Given the description of an element on the screen output the (x, y) to click on. 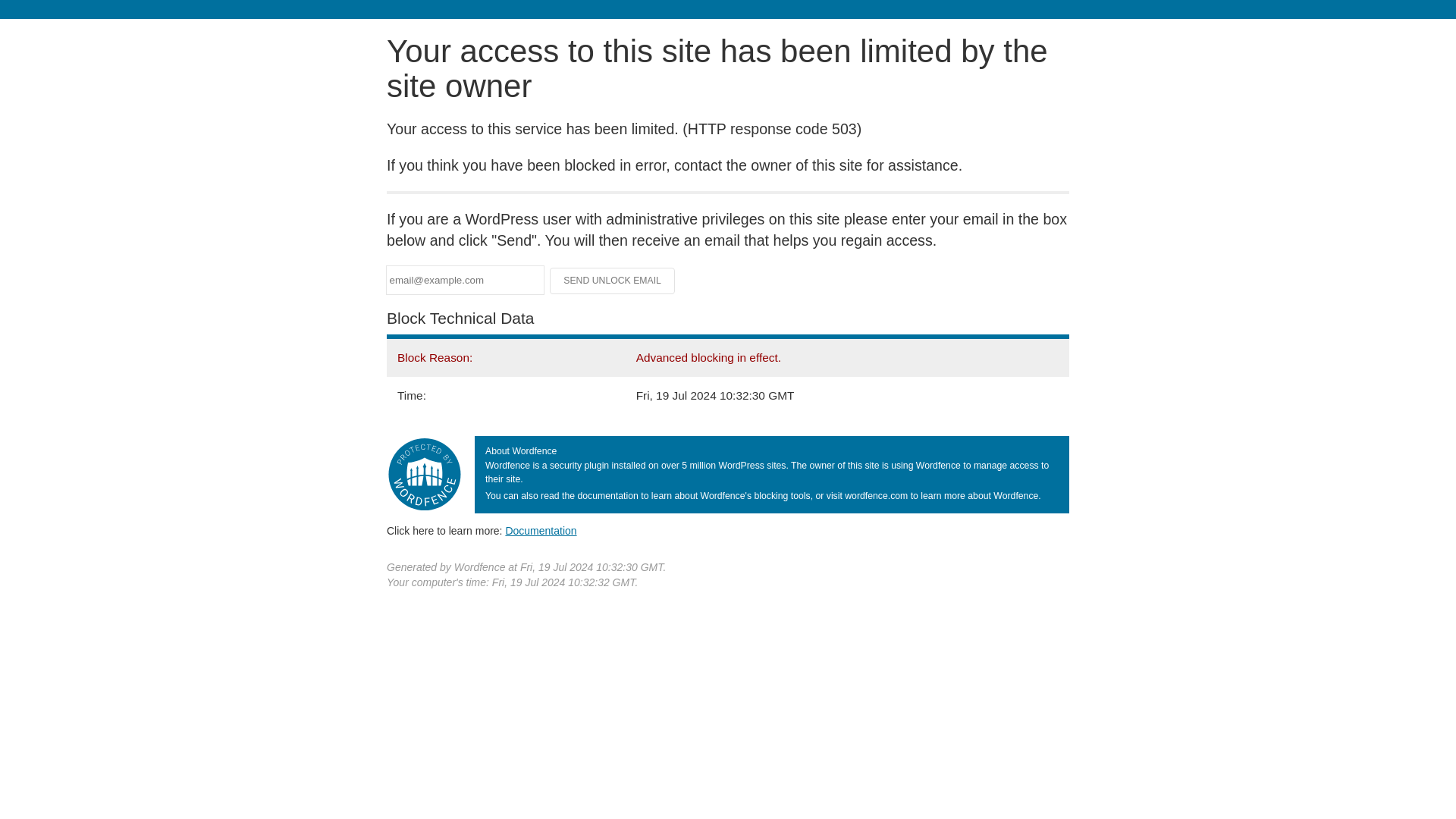
Send Unlock Email (612, 280)
Send Unlock Email (612, 280)
